Given the description of an element on the screen output the (x, y) to click on. 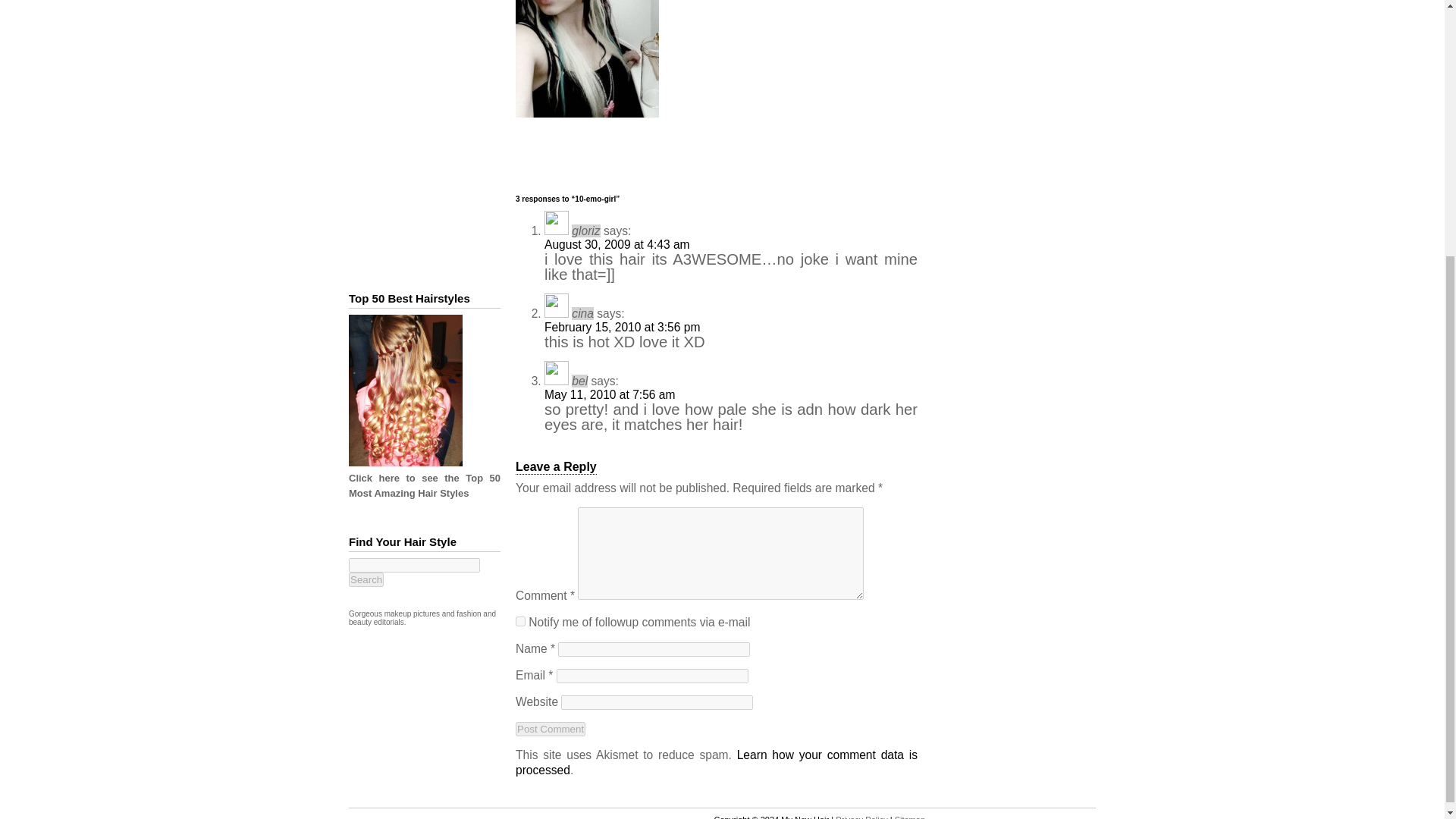
February 15, 2010 at 3:56 pm (622, 327)
Click here to see the Top 50 Most Amazing Hair Styles (424, 485)
Search (366, 579)
Post Comment (550, 728)
beauty editorials (376, 622)
Post Comment (550, 728)
subscribe (520, 621)
Search (366, 579)
Learn how your comment data is processed (716, 762)
August 30, 2009 at 4:43 am (617, 244)
May 11, 2010 at 7:56 am (609, 394)
